Given the description of an element on the screen output the (x, y) to click on. 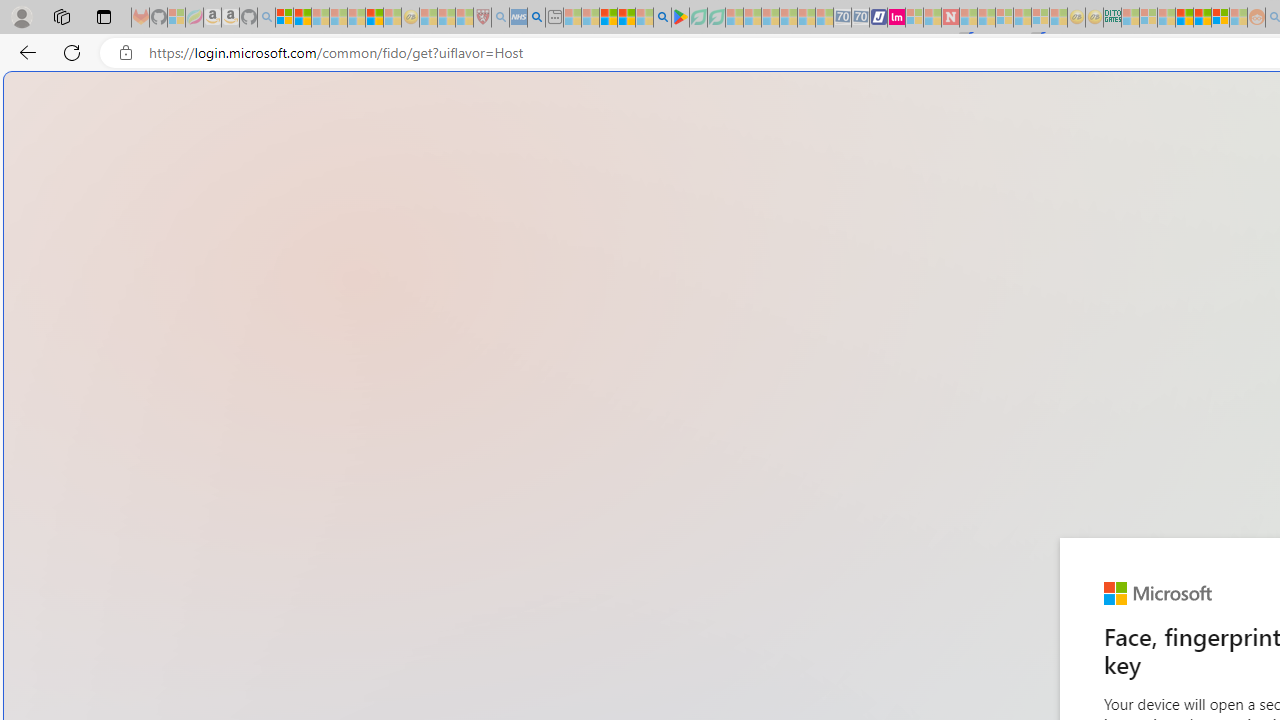
14 Common Myths Debunked By Scientific Facts - Sleeping (985, 17)
Cheap Hotels - Save70.com - Sleeping (860, 17)
